Given the description of an element on the screen output the (x, y) to click on. 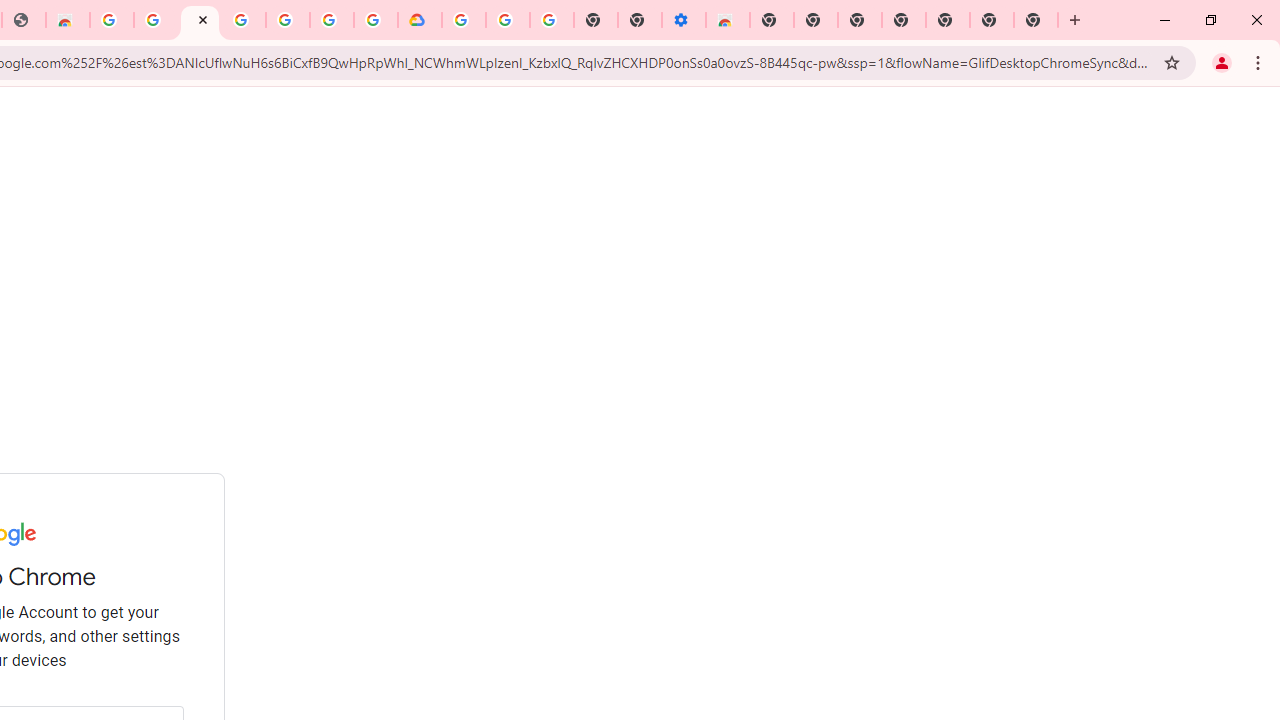
Sign in - Google Accounts (199, 20)
Chrome Web Store - Accessibility extensions (728, 20)
Settings - Accessibility (683, 20)
